Given the description of an element on the screen output the (x, y) to click on. 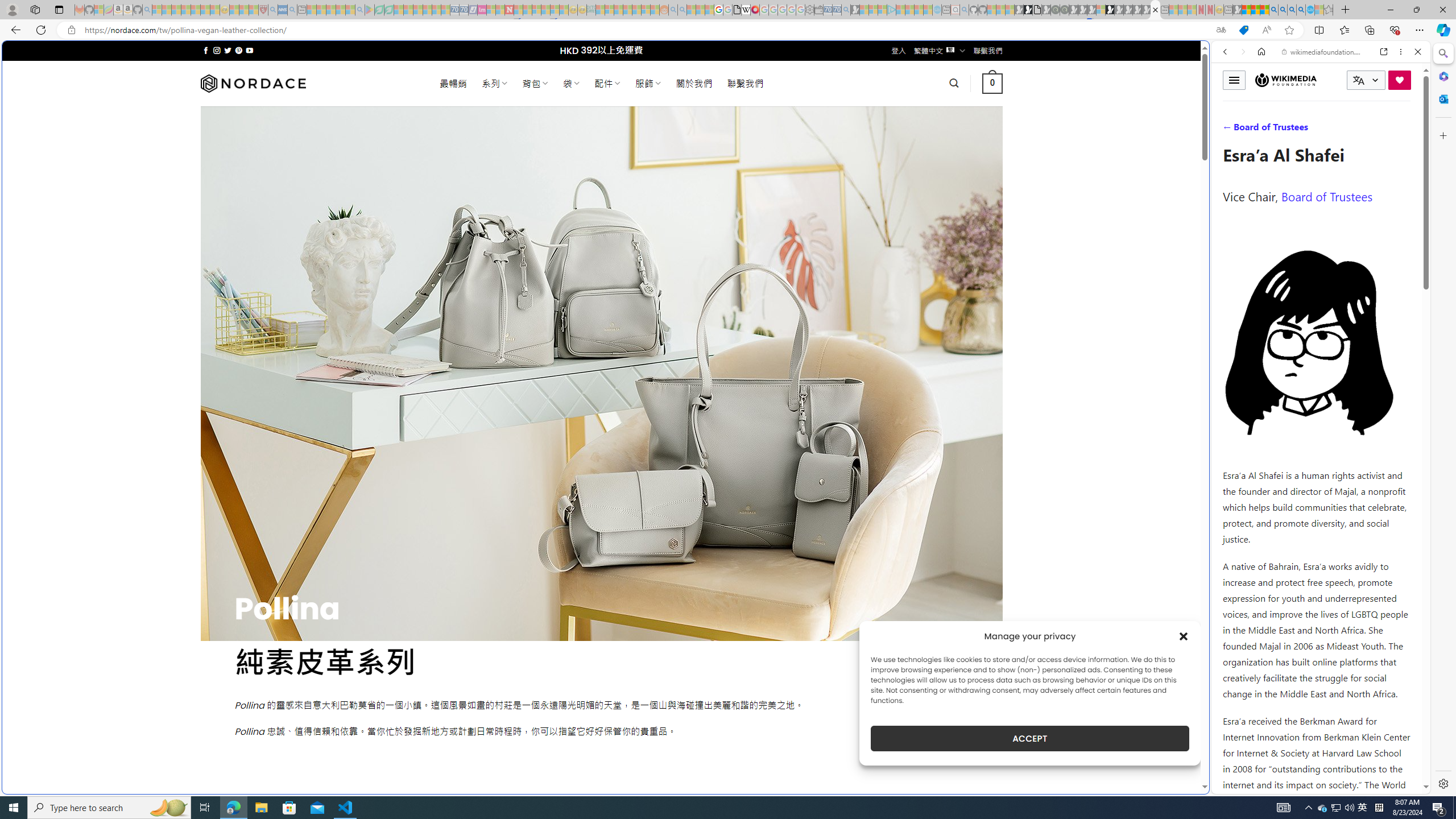
Follow on YouTube (249, 50)
New tab - Sleeping (1227, 9)
View site information (70, 29)
Donate now (1399, 80)
Restore (1416, 9)
google_privacy_policy_zh-CN.pdf (1118, 683)
